Given the description of an element on the screen output the (x, y) to click on. 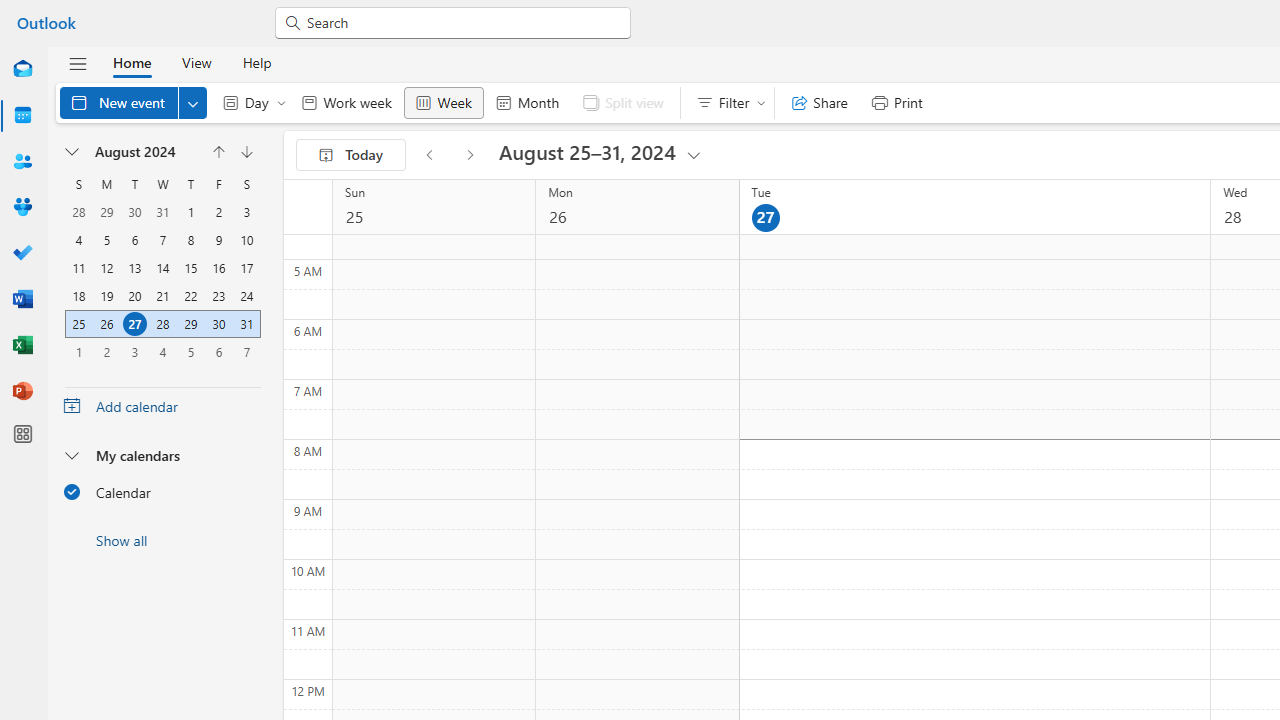
Print (896, 102)
31, August, 2024 (246, 323)
28, August, 2024 (163, 323)
4, September, 2024 (162, 351)
To Do (22, 254)
Mail (22, 69)
8, August, 2024 (190, 240)
29, August, 2024 (191, 323)
9, August, 2024 (218, 239)
22, August, 2024 (190, 296)
5, August, 2024 (106, 239)
12, August, 2024 (106, 268)
13, August, 2024 (134, 268)
My calendars (162, 455)
